Given the description of an element on the screen output the (x, y) to click on. 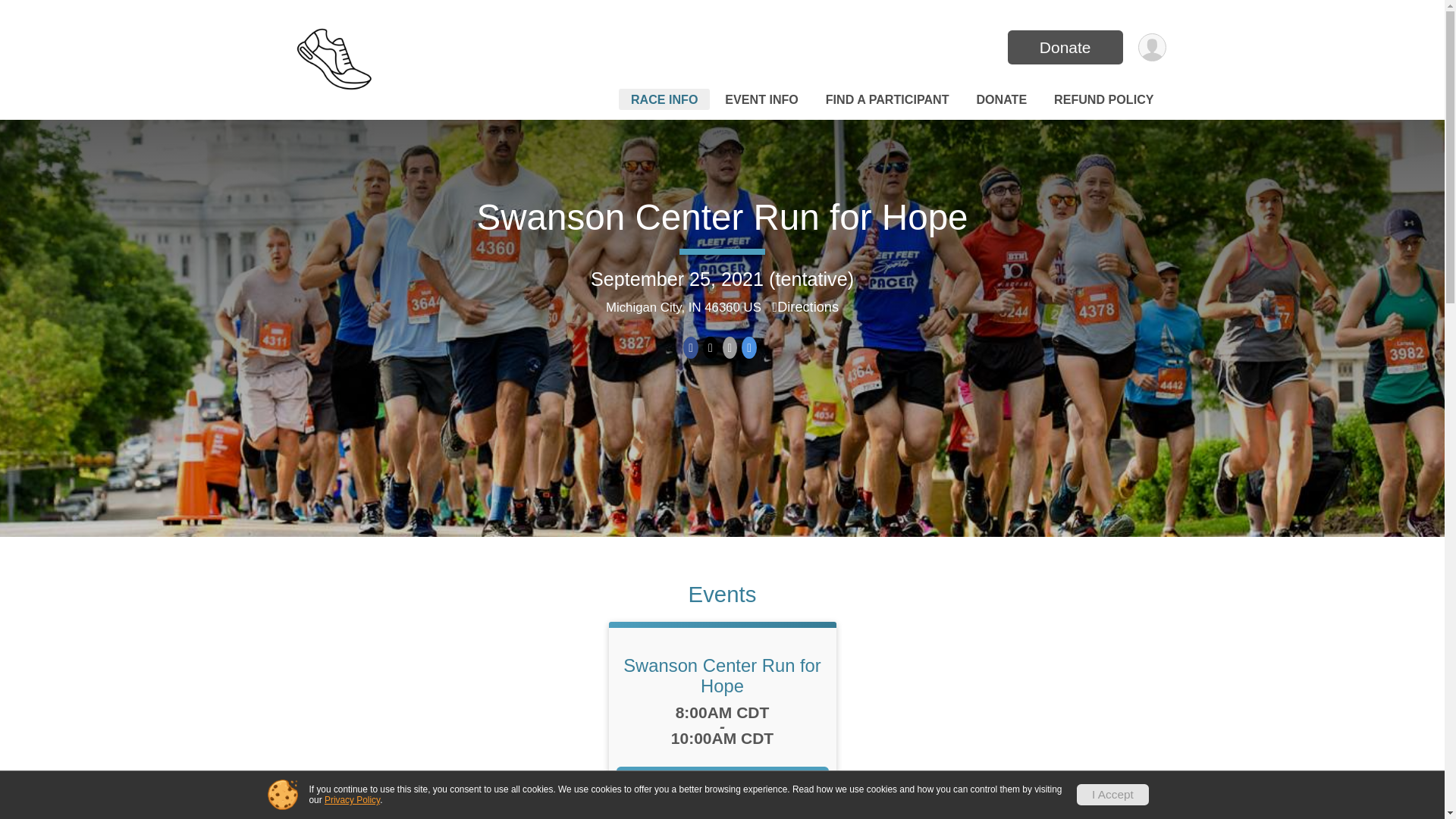
Donate (1064, 47)
Swanson Center Run for Hope (722, 217)
FIND A PARTICIPANT (887, 98)
REFUND POLICY (1103, 98)
Sign Up (721, 783)
EVENT INFO (761, 98)
Directions (806, 306)
Swanson Center Run for Hope (722, 675)
DONATE (1000, 98)
RACE INFO (664, 98)
